Given the description of an element on the screen output the (x, y) to click on. 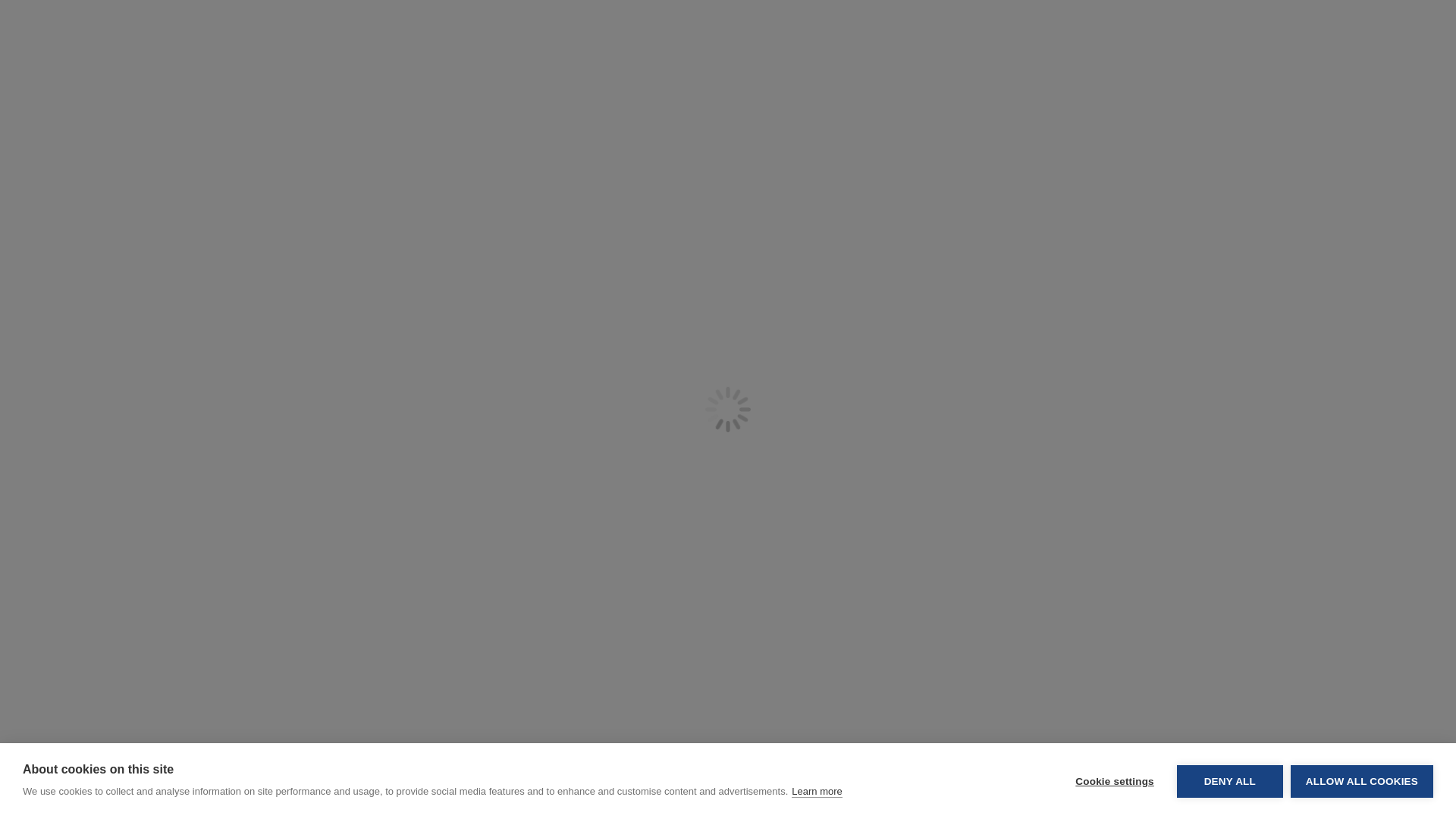
DENY ALL (1229, 5)
Crew-Agnes (519, 113)
Cookie settings (1114, 9)
